Given the description of an element on the screen output the (x, y) to click on. 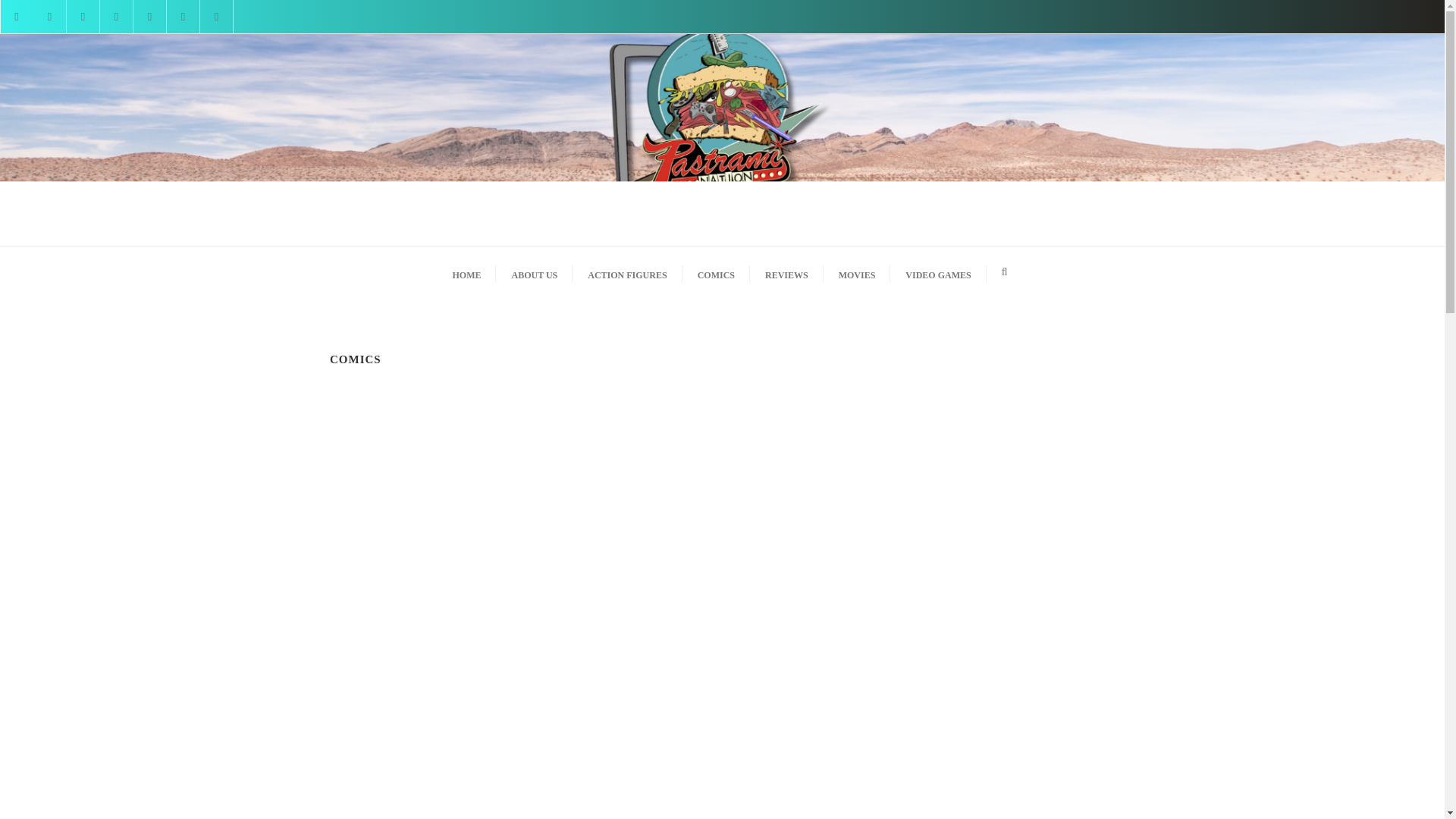
MOVIES (857, 271)
HOME (466, 271)
ACTION FIGURES (626, 271)
VIDEO GAMES (937, 271)
ABOUT US (534, 271)
COMICS (715, 271)
REVIEWS (786, 271)
